Given the description of an element on the screen output the (x, y) to click on. 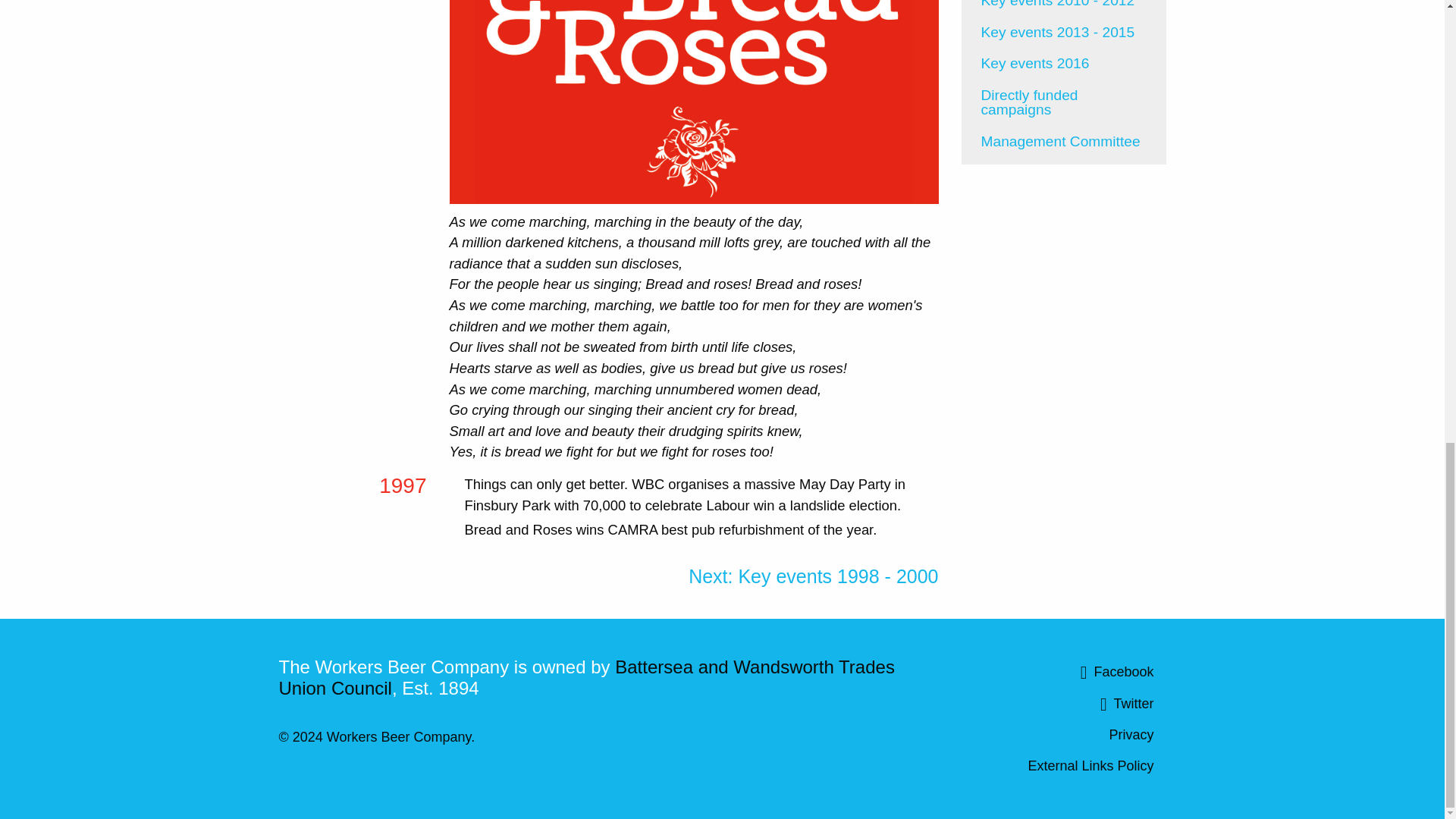
Twitter (1063, 703)
Management Committee (1063, 142)
Key events 2016 (1063, 63)
External Links Policy (1063, 765)
Directly funded campaigns (1063, 102)
Privacy (1063, 734)
Key events 2013 - 2015 (1063, 32)
Key events 1998 - 2000 (812, 576)
Battersea and Wandsworth Trades Union Council (587, 677)
Facebook (1063, 672)
